Given the description of an element on the screen output the (x, y) to click on. 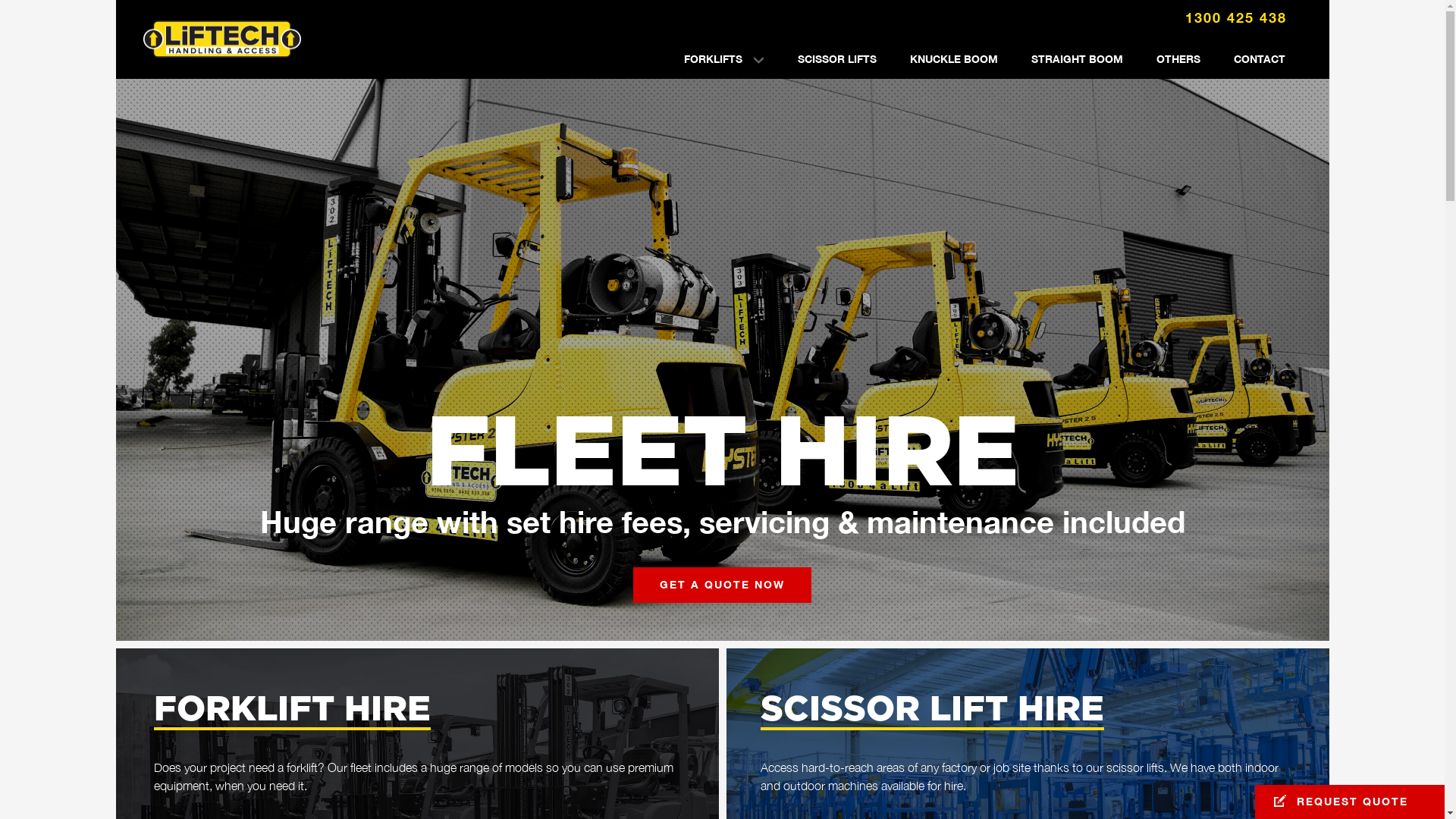
FORKLIFTS Element type: text (724, 58)
CONTACT Element type: text (1258, 58)
SCISSOR LIFTS Element type: text (837, 58)
FORKLIFT HIRE Element type: text (291, 709)
STRAIGHT BOOM Element type: text (1076, 58)
OTHERS Element type: text (1177, 58)
SCISSOR LIFT HIRE Element type: text (931, 709)
KNUCKLE BOOM Element type: text (953, 58)
GET A QUOTE NOW Element type: text (722, 584)
